Given the description of an element on the screen output the (x, y) to click on. 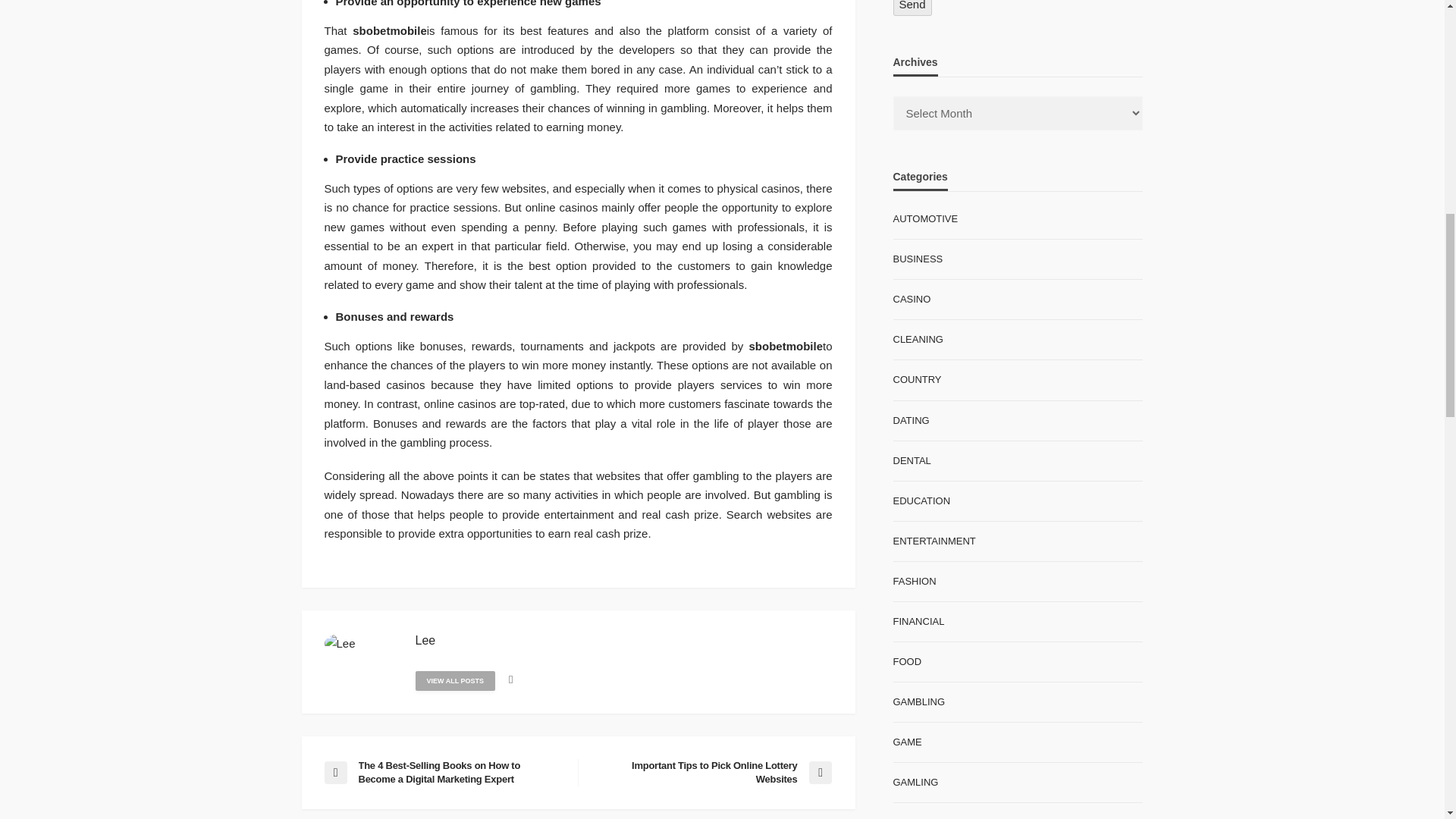
Lee (424, 640)
VIEW ALL POSTS (455, 680)
Important Tips to Pick Online Lottery Websites (711, 772)
Send (912, 8)
website (510, 679)
Important Tips to Pick Online Lottery Websites (711, 772)
